Given the description of an element on the screen output the (x, y) to click on. 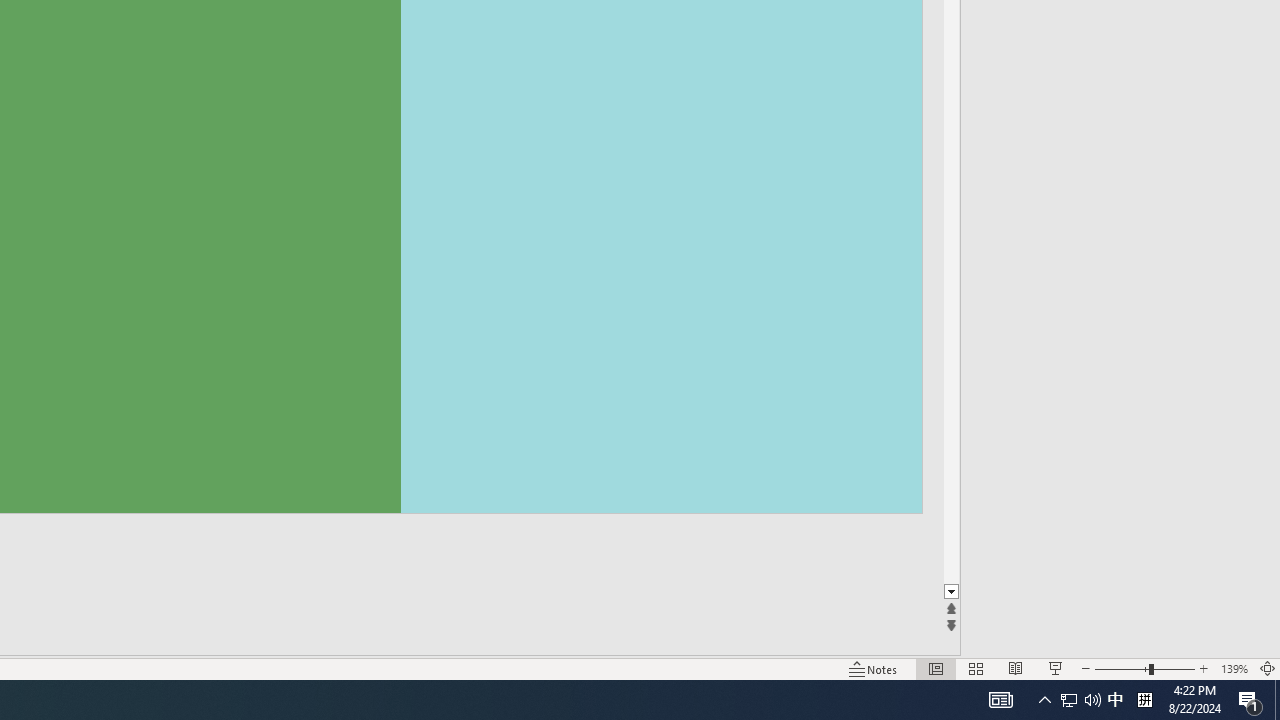
Zoom 139% (1234, 668)
